Given the description of an element on the screen output the (x, y) to click on. 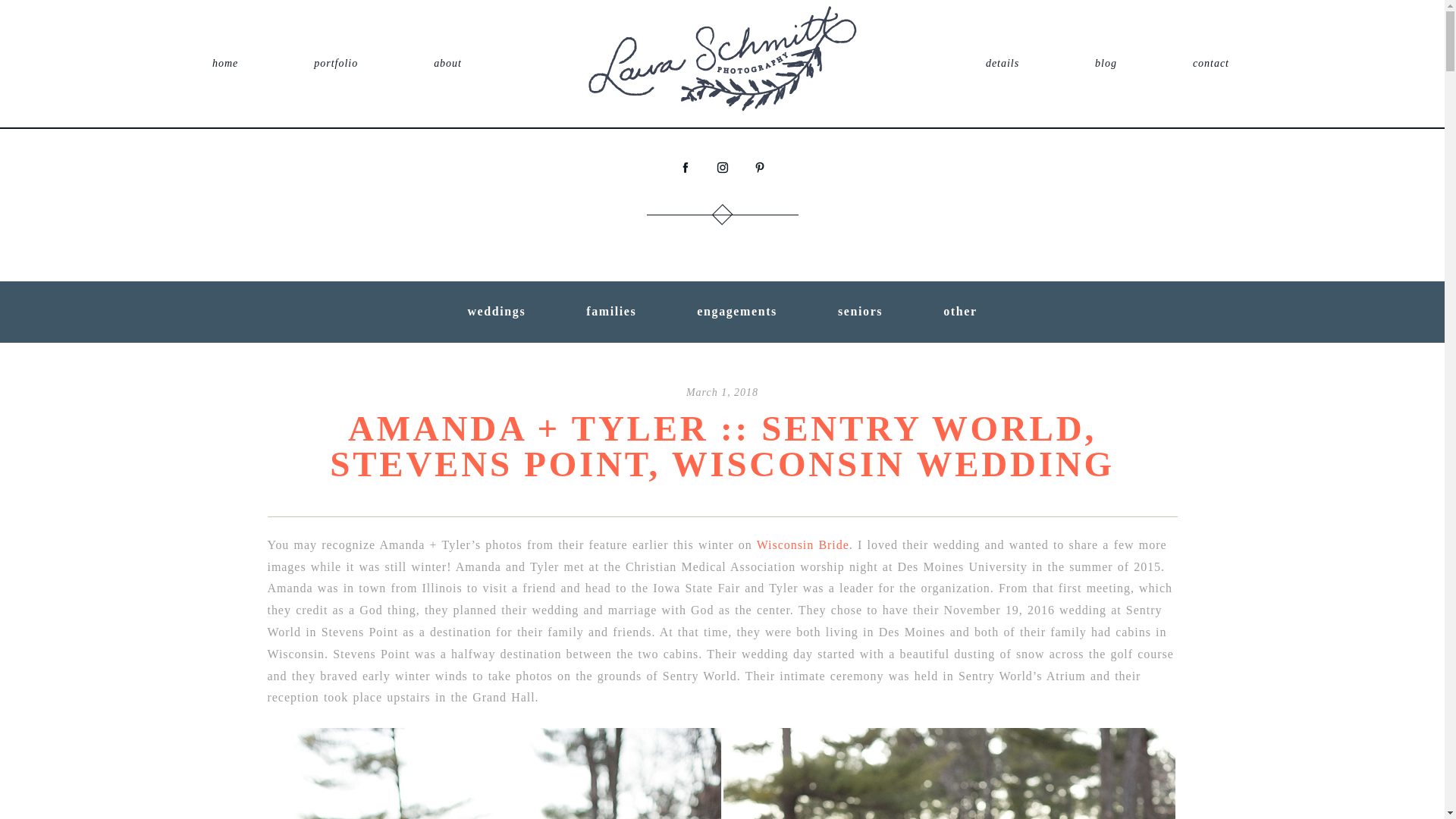
details (1002, 62)
about (447, 62)
blog (1105, 62)
portfolio (336, 62)
weddings (496, 310)
home (225, 62)
contact (1210, 62)
